Given the description of an element on the screen output the (x, y) to click on. 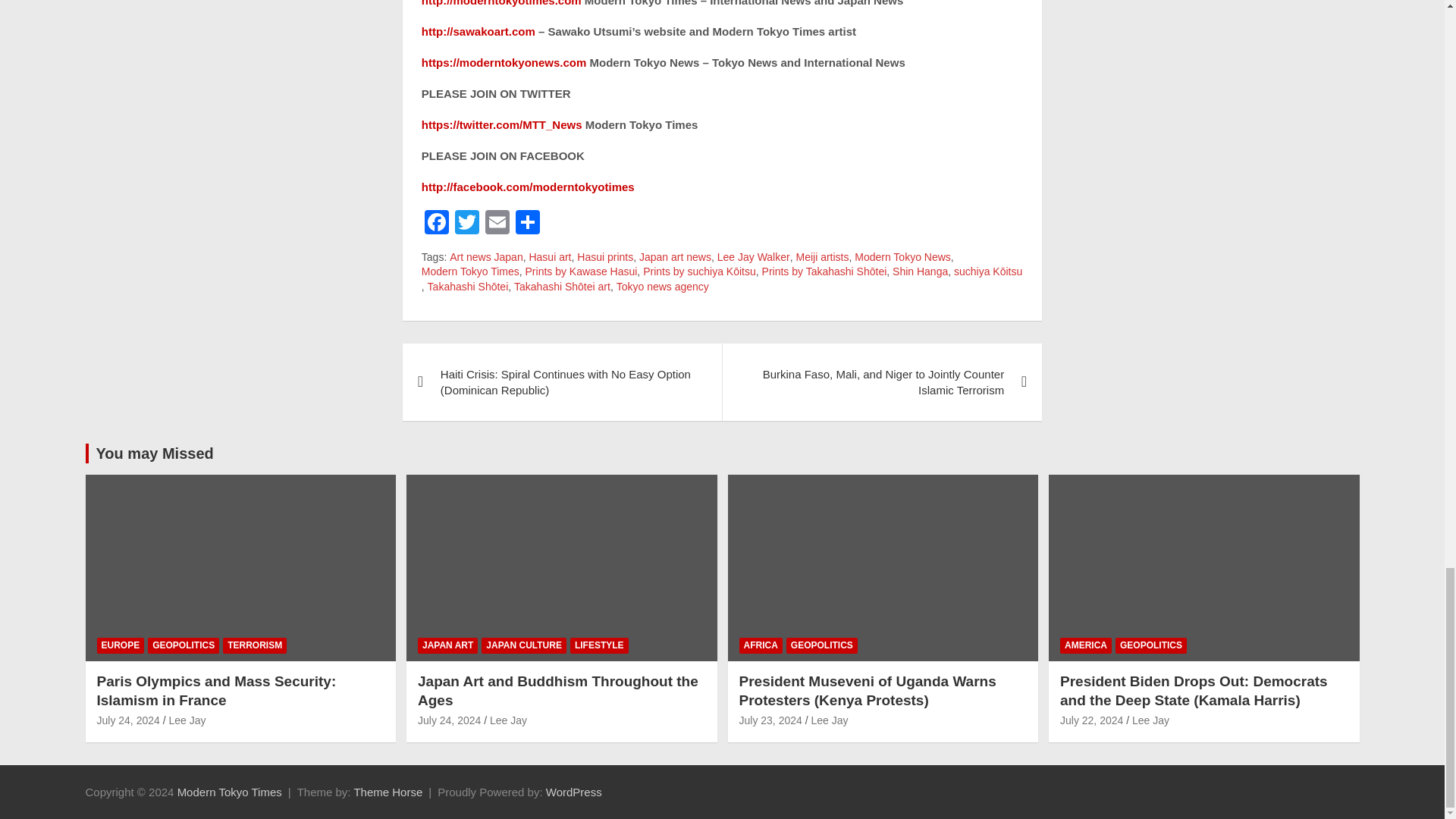
Shin Hanga (919, 272)
Meiji artists (821, 257)
Modern Tokyo News (902, 257)
Tokyo news agency (662, 287)
WordPress (574, 791)
Lee Jay Walker (753, 257)
Hasui art (549, 257)
Japan Art and Buddhism Throughout the Ages (448, 720)
Theme Horse (387, 791)
Twitter (466, 223)
Twitter (466, 223)
Hasui prints (604, 257)
Modern Tokyo Times (470, 272)
Japan art news (675, 257)
Paris Olympics and Mass Security: Islamism in France (128, 720)
